Given the description of an element on the screen output the (x, y) to click on. 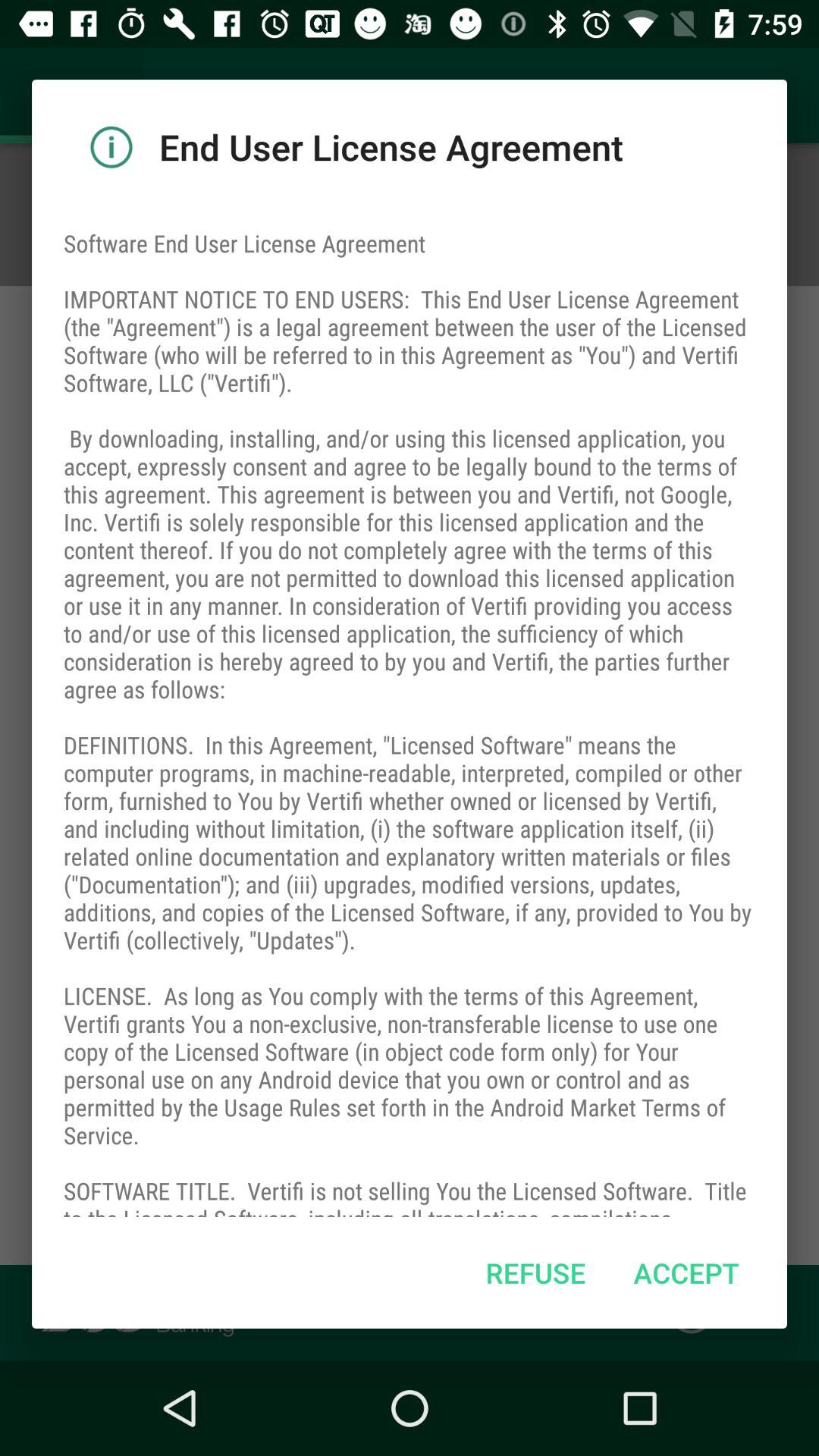
choose the item at the bottom right corner (686, 1272)
